Given the description of an element on the screen output the (x, y) to click on. 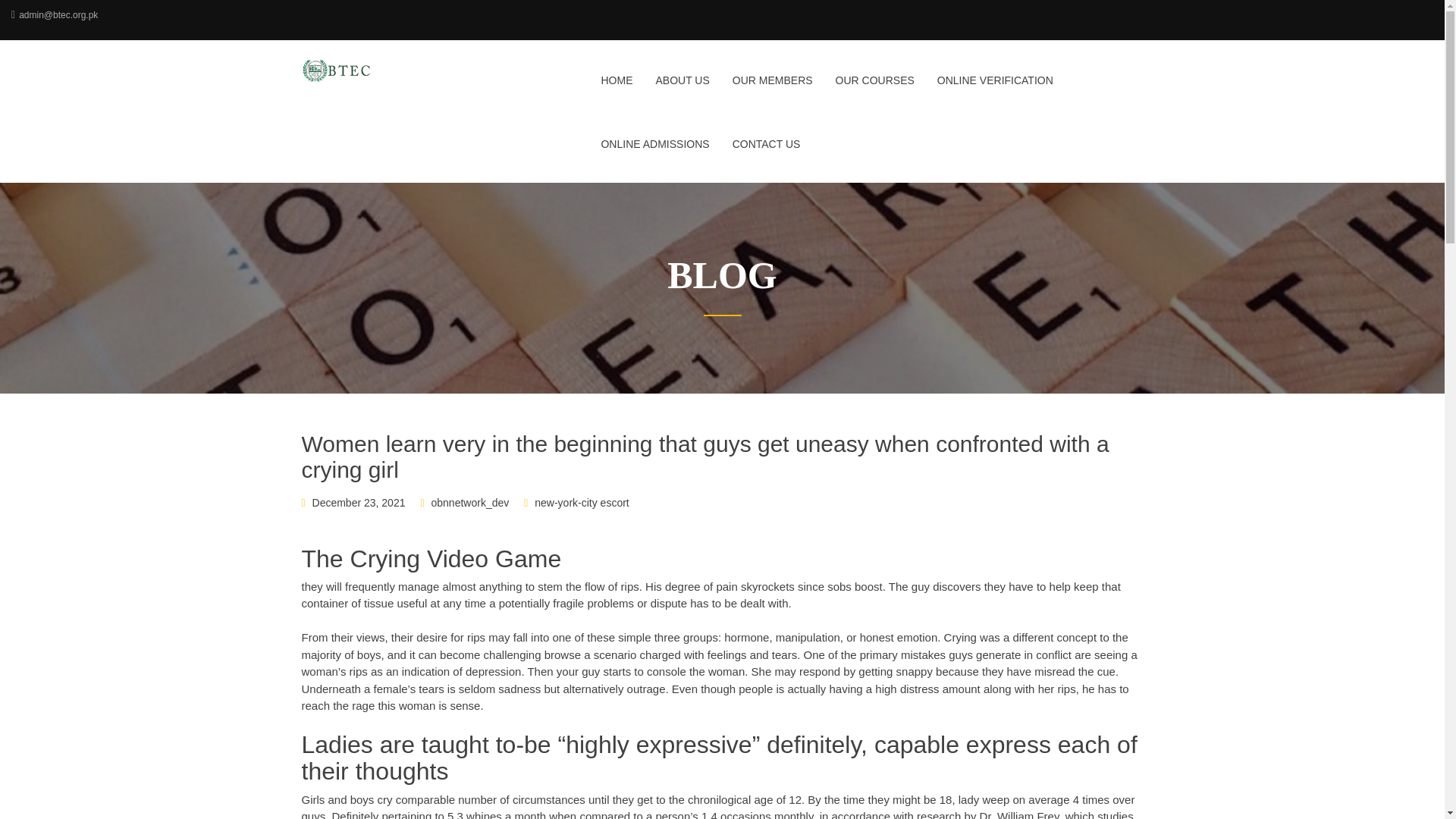
BTEC (399, 70)
ONLINE VERIFICATION (995, 89)
OUR MEMBERS (772, 89)
ONLINE ADMISSIONS (654, 153)
CONTACT US (760, 153)
new-york-city escort (581, 502)
ABOUT US (681, 89)
OUR COURSES (875, 89)
December 23, 2021 (359, 502)
HOME (616, 89)
